Given the description of an element on the screen output the (x, y) to click on. 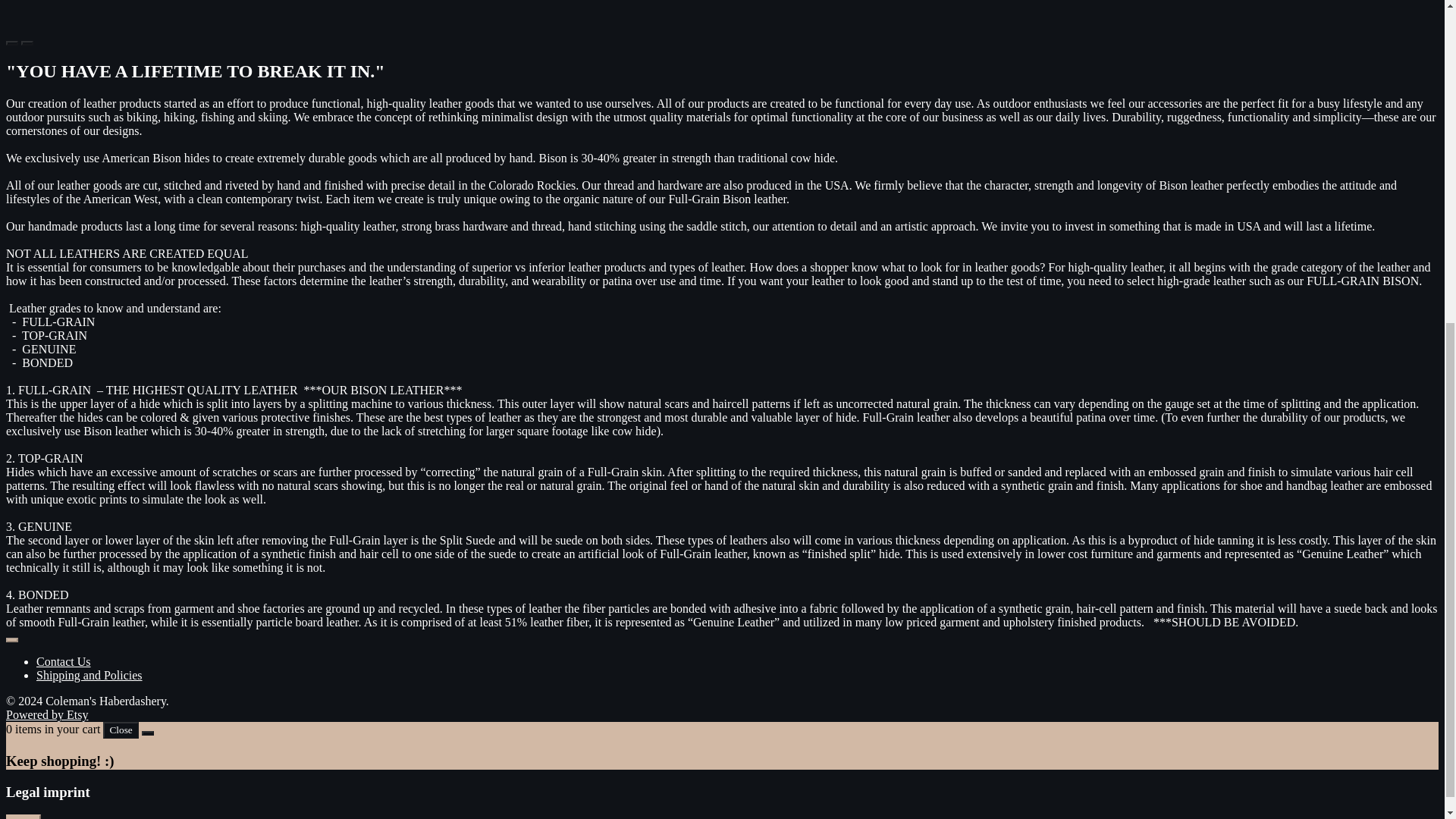
Shipping and Policies (89, 675)
Close (120, 729)
Contact Us (63, 661)
Powered by Etsy (46, 714)
